Given the description of an element on the screen output the (x, y) to click on. 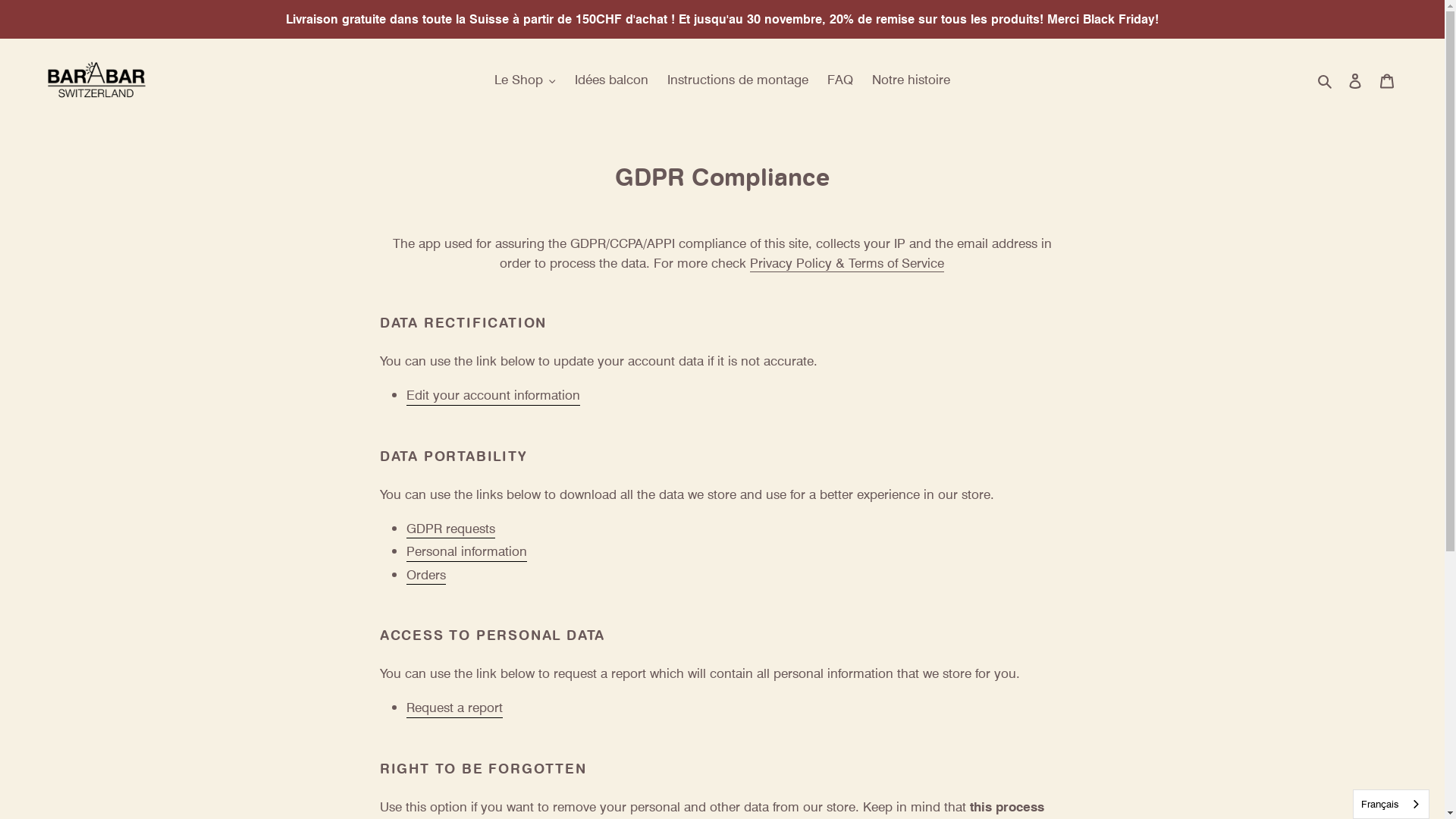
FAQ Element type: text (839, 79)
Instructions de montage Element type: text (737, 79)
Panier Element type: text (1386, 79)
Privacy Policy & Terms of Service Element type: text (846, 263)
Request a report Element type: text (454, 708)
Rechercher Element type: text (1325, 79)
Edit your account information Element type: text (493, 395)
Se connecter Element type: text (1355, 79)
Orders Element type: text (425, 574)
Personal information Element type: text (466, 552)
GDPR requests Element type: text (450, 528)
Notre histoire Element type: text (910, 79)
Le Shop Element type: text (524, 79)
